Given the description of an element on the screen output the (x, y) to click on. 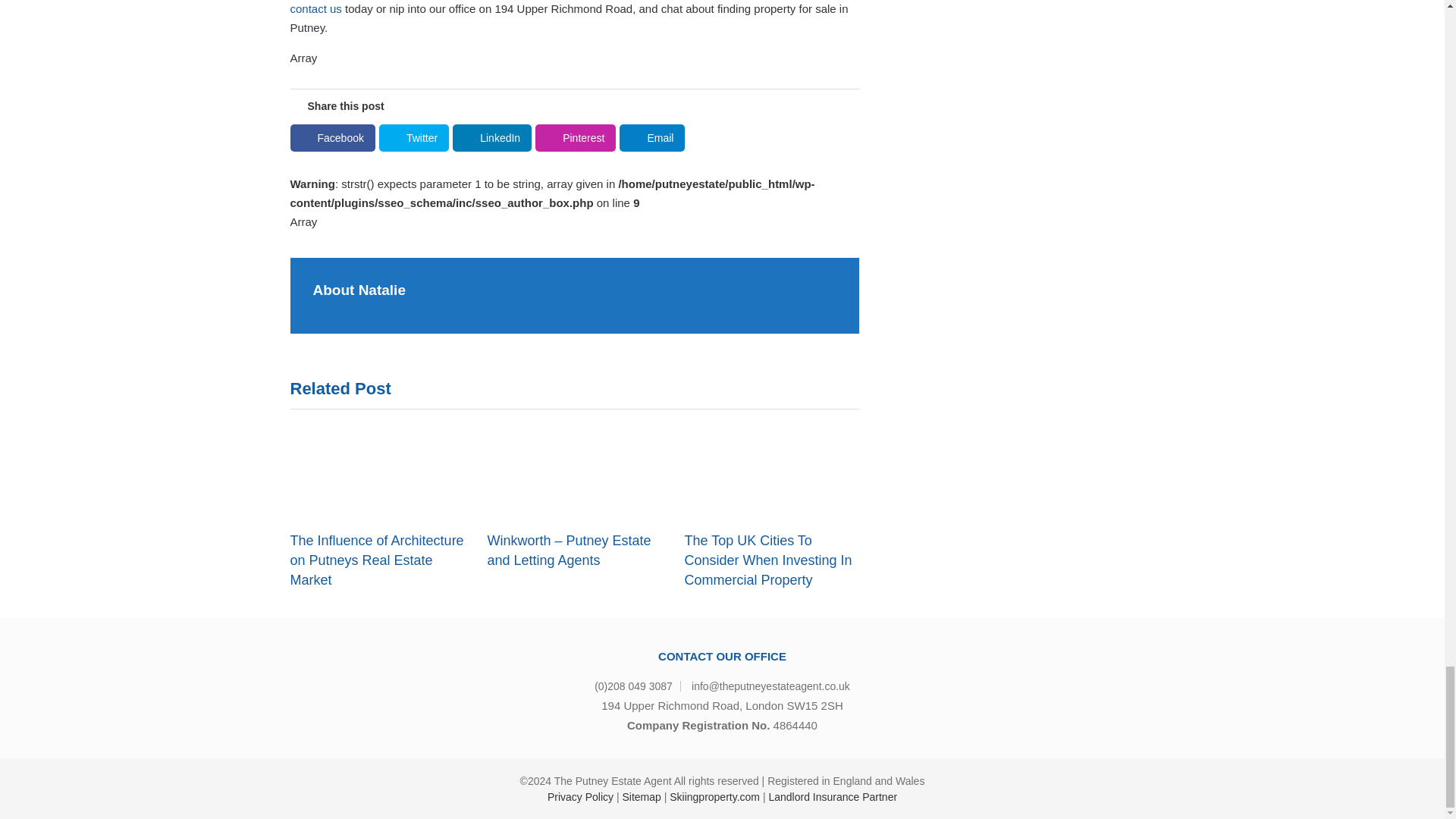
The Influence of Architecture on Putneys Real Estate Market (376, 559)
Facebook (331, 138)
Pinterest (575, 138)
contact us (314, 8)
LinkedIn (491, 138)
Email (652, 138)
Twitter (413, 138)
